Given the description of an element on the screen output the (x, y) to click on. 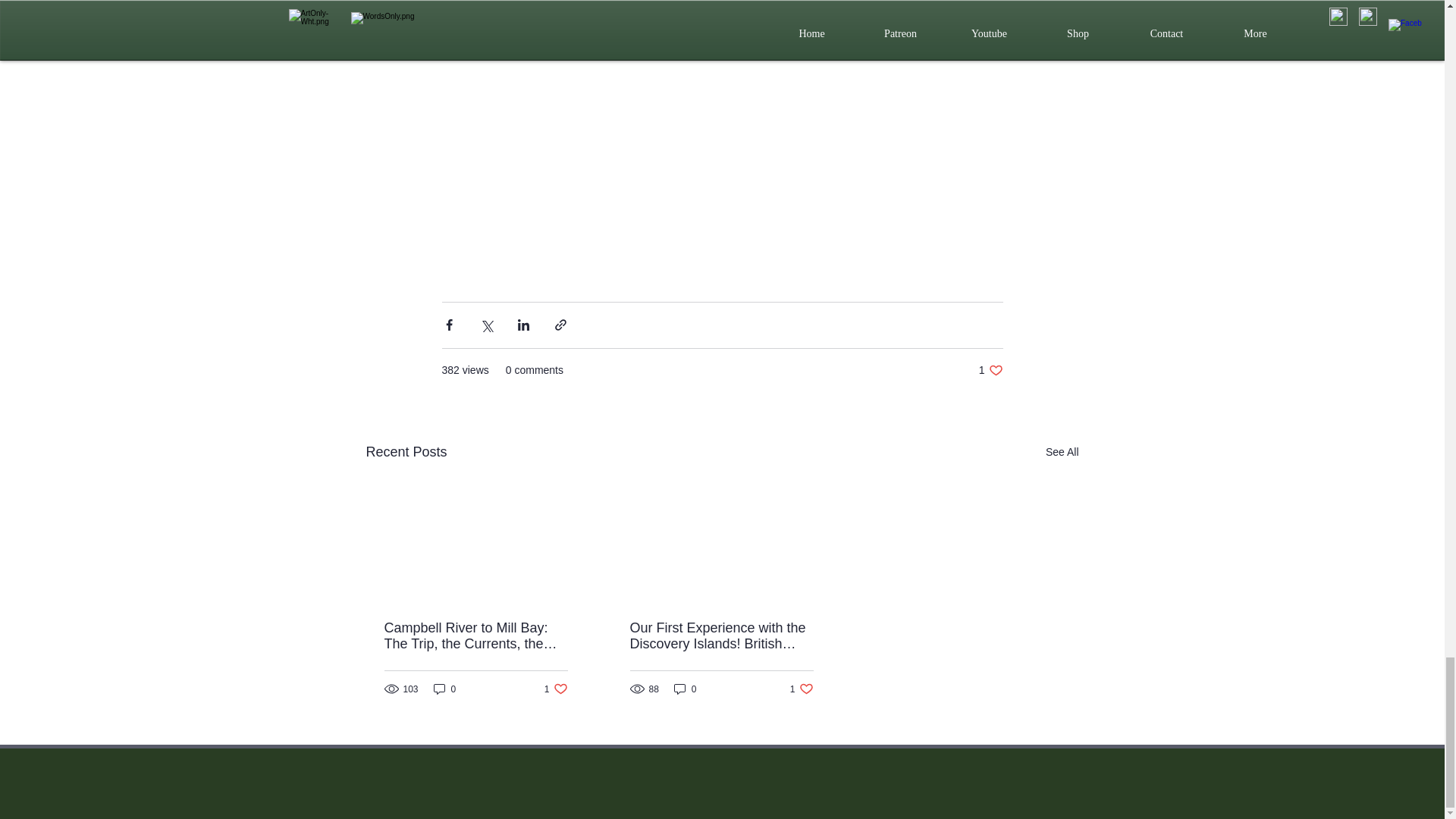
0 (445, 688)
0 (990, 370)
See All (685, 688)
Campbell River to Mill Bay: The Trip, the Currents, the Plan (1061, 452)
